Given the description of an element on the screen output the (x, y) to click on. 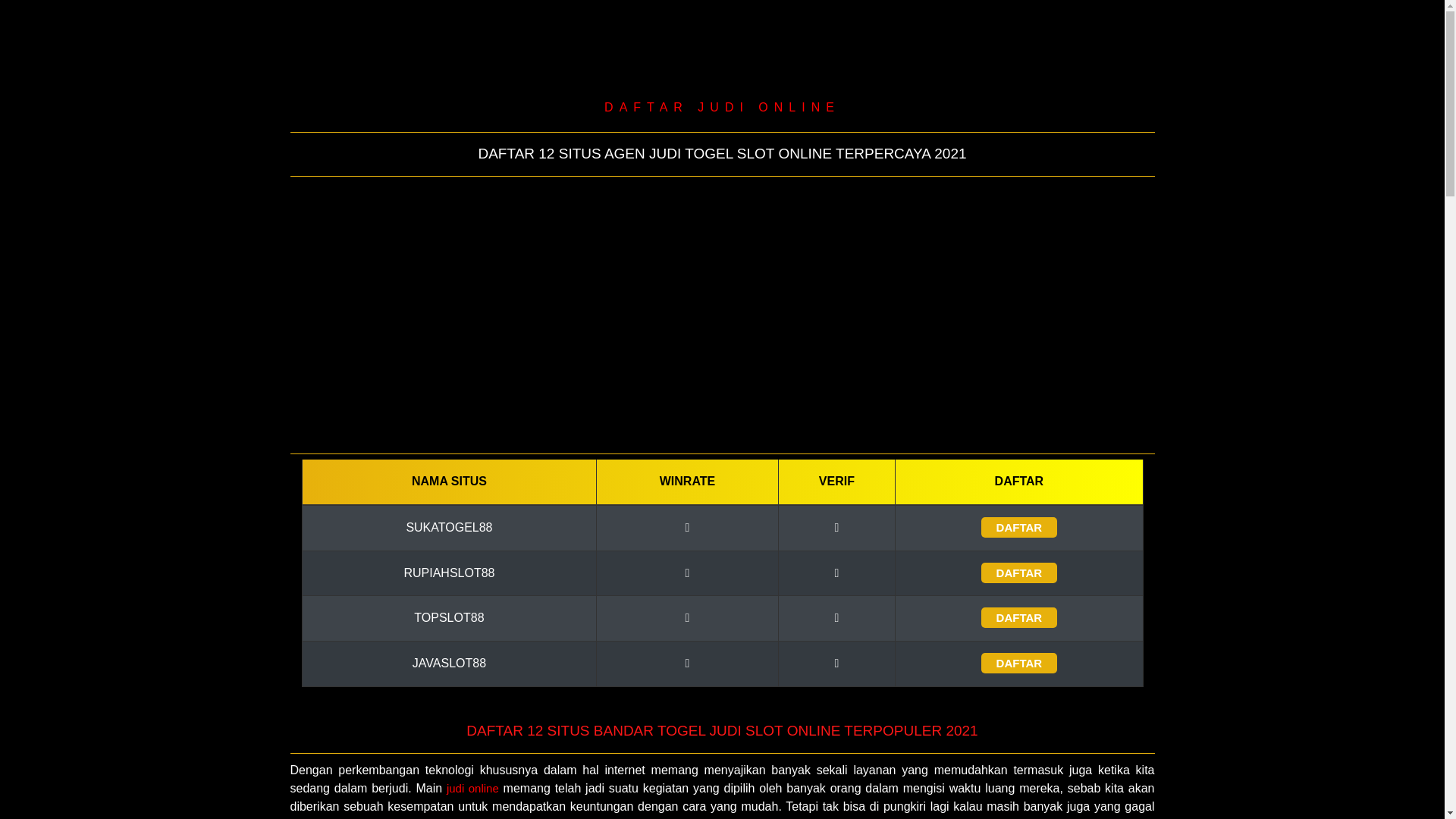
pkv games Element type: hover (939, 359)
DAFTAR Element type: text (1019, 617)
pkv games Element type: hover (505, 410)
pkv games Element type: hover (505, 359)
pkv games Element type: hover (939, 410)
DAFTAR Element type: text (1019, 662)
Sukatogel88 Element type: hover (505, 206)
Rupiahslot88 Element type: hover (505, 257)
BBslot88 Element type: hover (939, 257)
DAFTAR Element type: text (1019, 572)
Javaslot88 Element type: hover (939, 206)
pkv games Element type: hover (939, 308)
Topslot88 Element type: hover (505, 308)
DAFTAR Element type: text (1019, 527)
judi online Element type: text (472, 787)
